Given the description of an element on the screen output the (x, y) to click on. 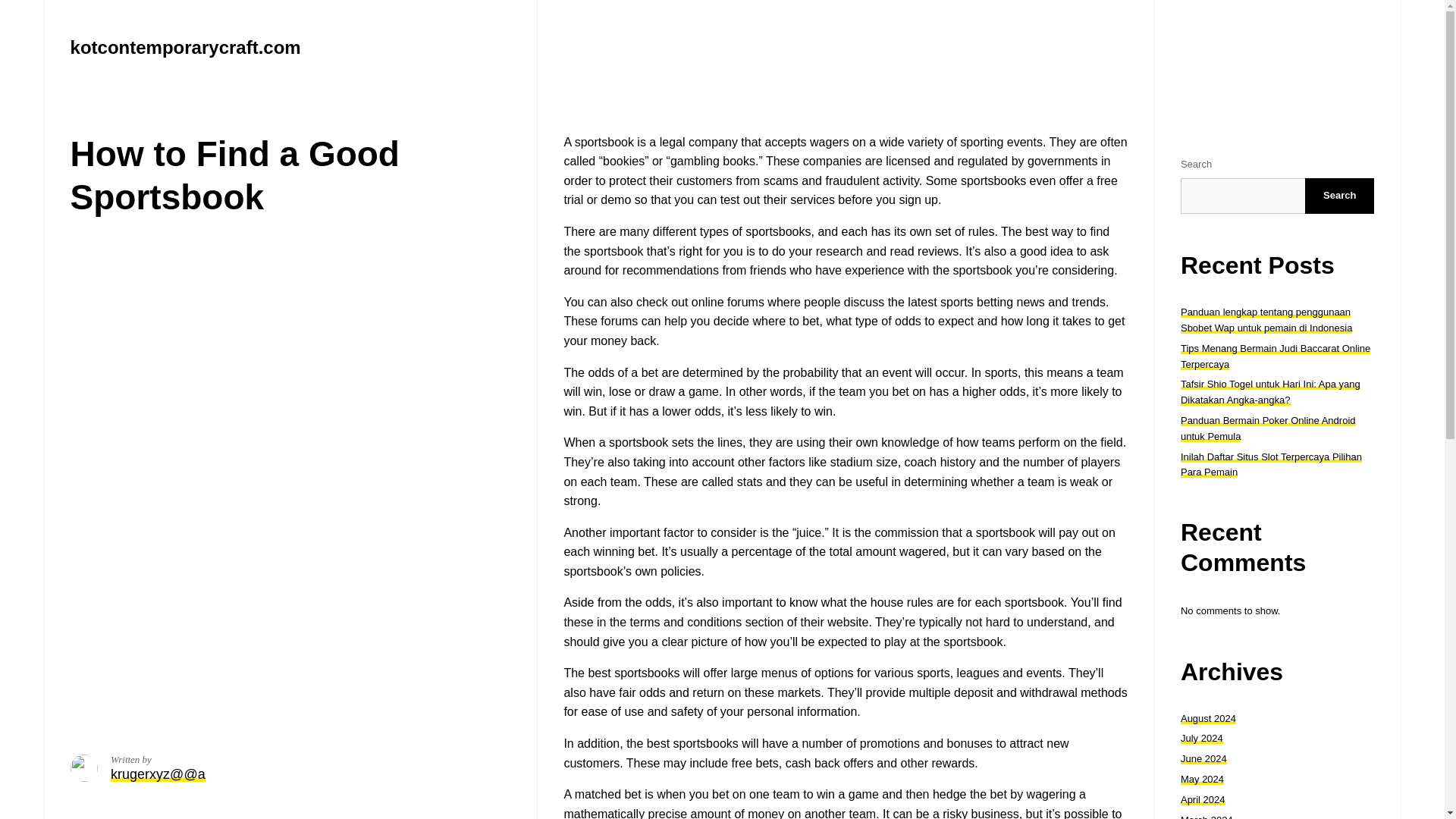
Tips Menang Bermain Judi Baccarat Online Terpercaya (1275, 356)
kotcontemporarycraft.com (185, 47)
Panduan Bermain Poker Online Android untuk Pemula (1267, 428)
August 2024 (1208, 717)
July 2024 (1201, 737)
Search (1339, 195)
March 2024 (1206, 816)
June 2024 (1203, 758)
